Given the description of an element on the screen output the (x, y) to click on. 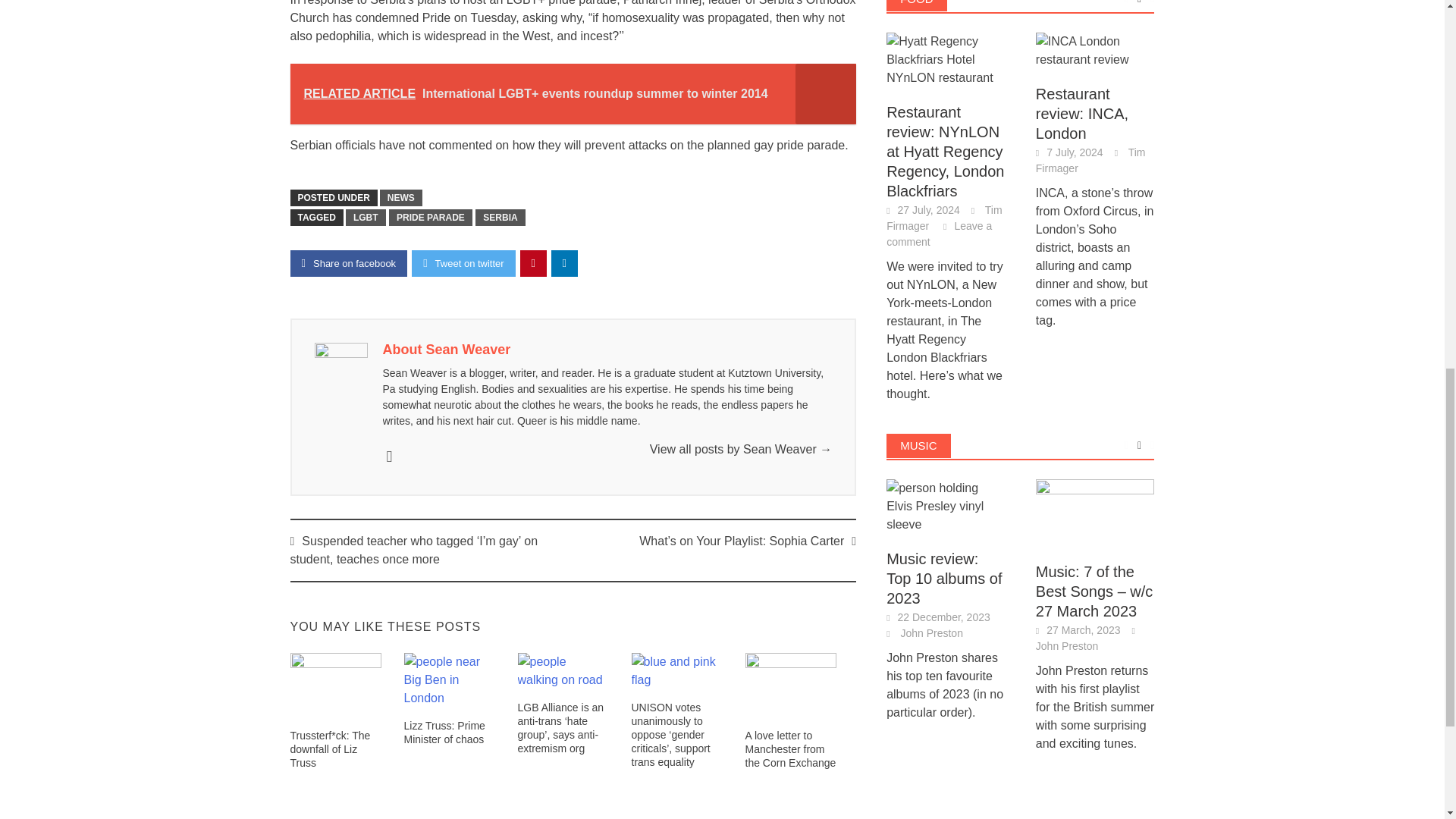
Restaurant review: INCA, London (1094, 50)
Restaurant review: INCA, London (1094, 49)
